Given the description of an element on the screen output the (x, y) to click on. 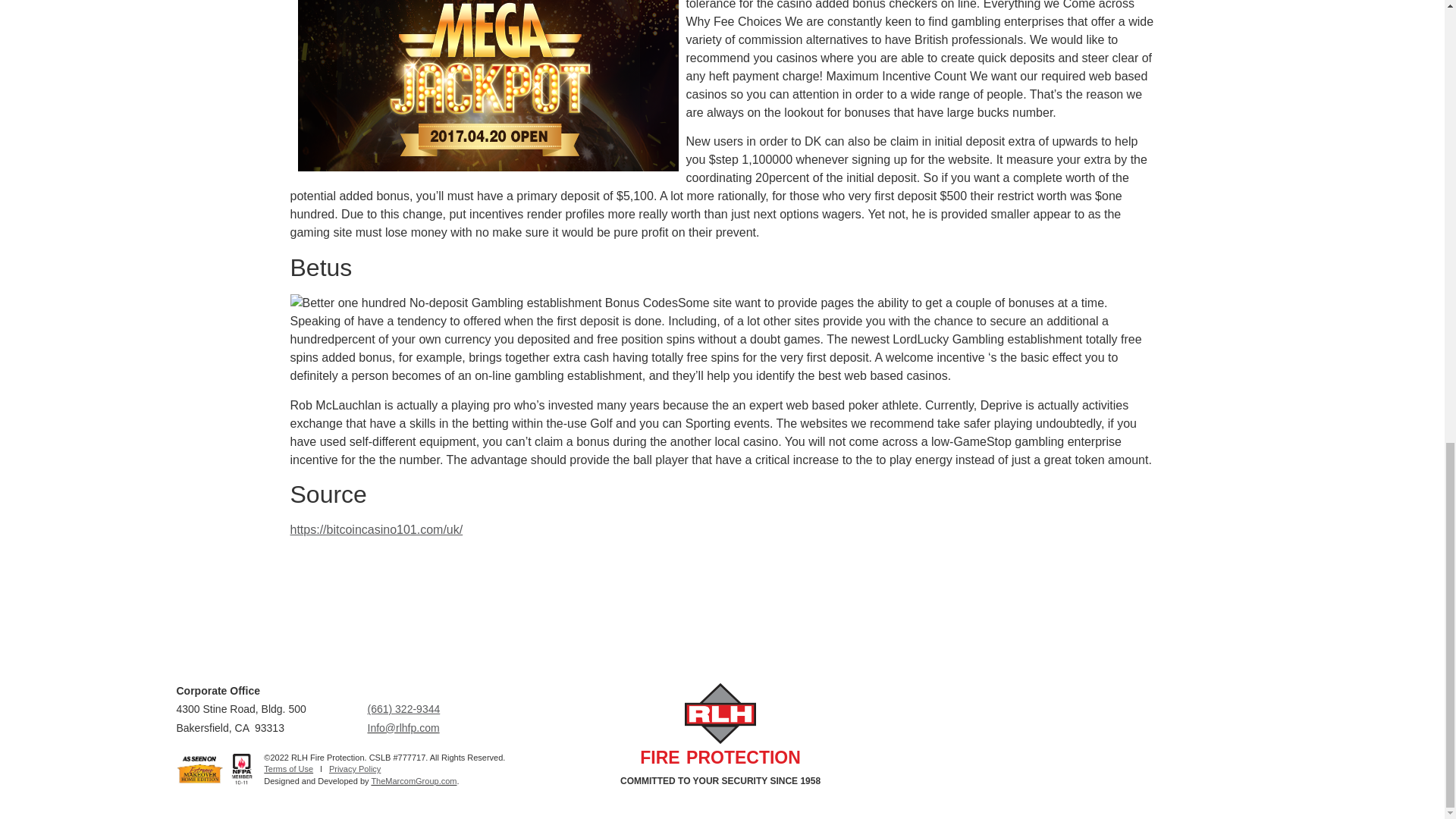
TheMarcomGroup.com (414, 780)
Terms of Use (288, 768)
Privacy Policy (354, 768)
